Given the description of an element on the screen output the (x, y) to click on. 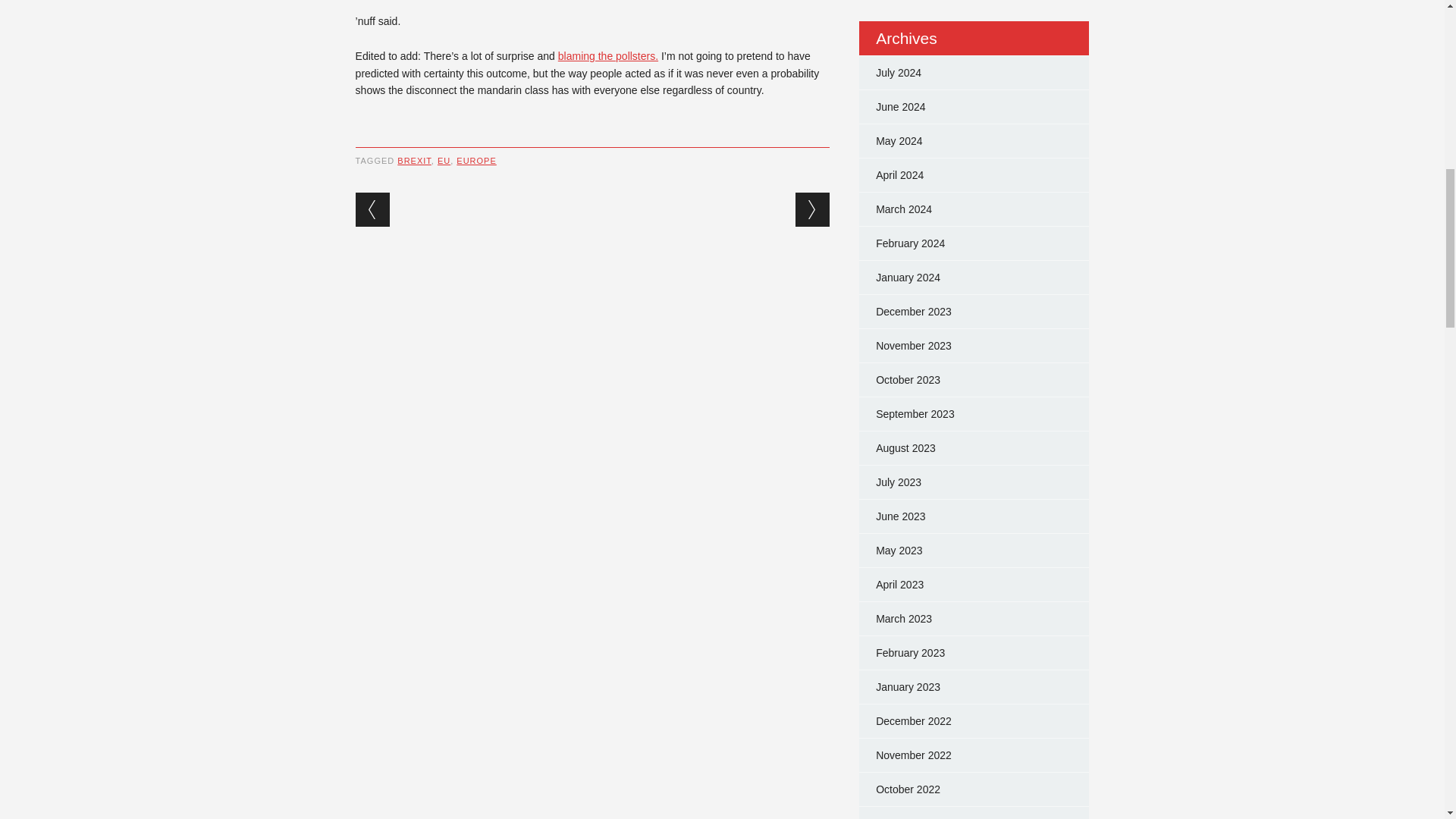
EUROPE (476, 160)
BREXIT (413, 160)
EU (443, 160)
blaming the pollsters. (607, 55)
